Given the description of an element on the screen output the (x, y) to click on. 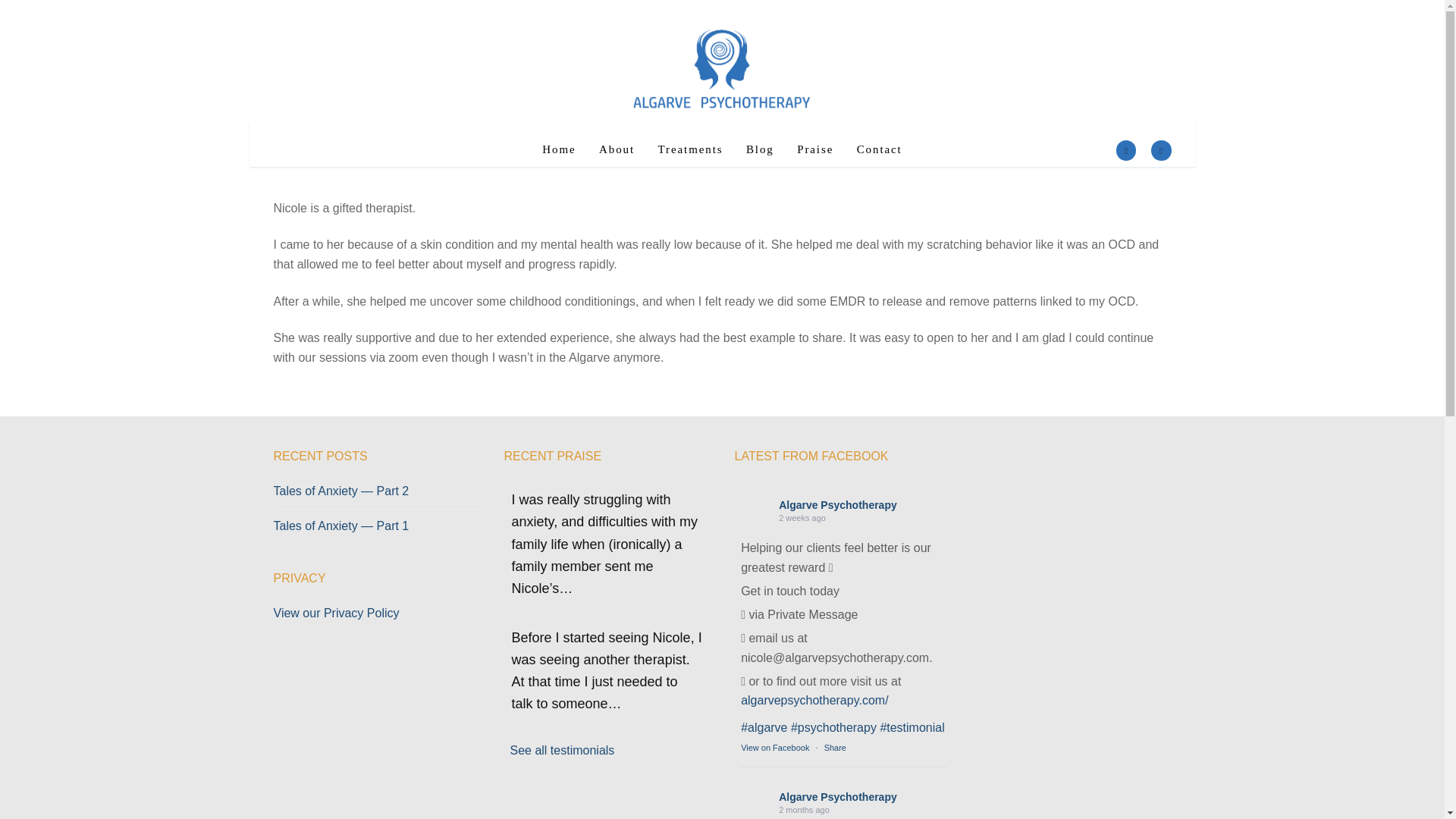
About (617, 149)
View our Privacy Policy (335, 612)
Share (834, 747)
Contact (879, 149)
Algarve Psychotherapy (837, 504)
Blog (760, 149)
View on Facebook (775, 747)
Email (1161, 150)
See all testimonials (561, 749)
Praise (815, 149)
